Given the description of an element on the screen output the (x, y) to click on. 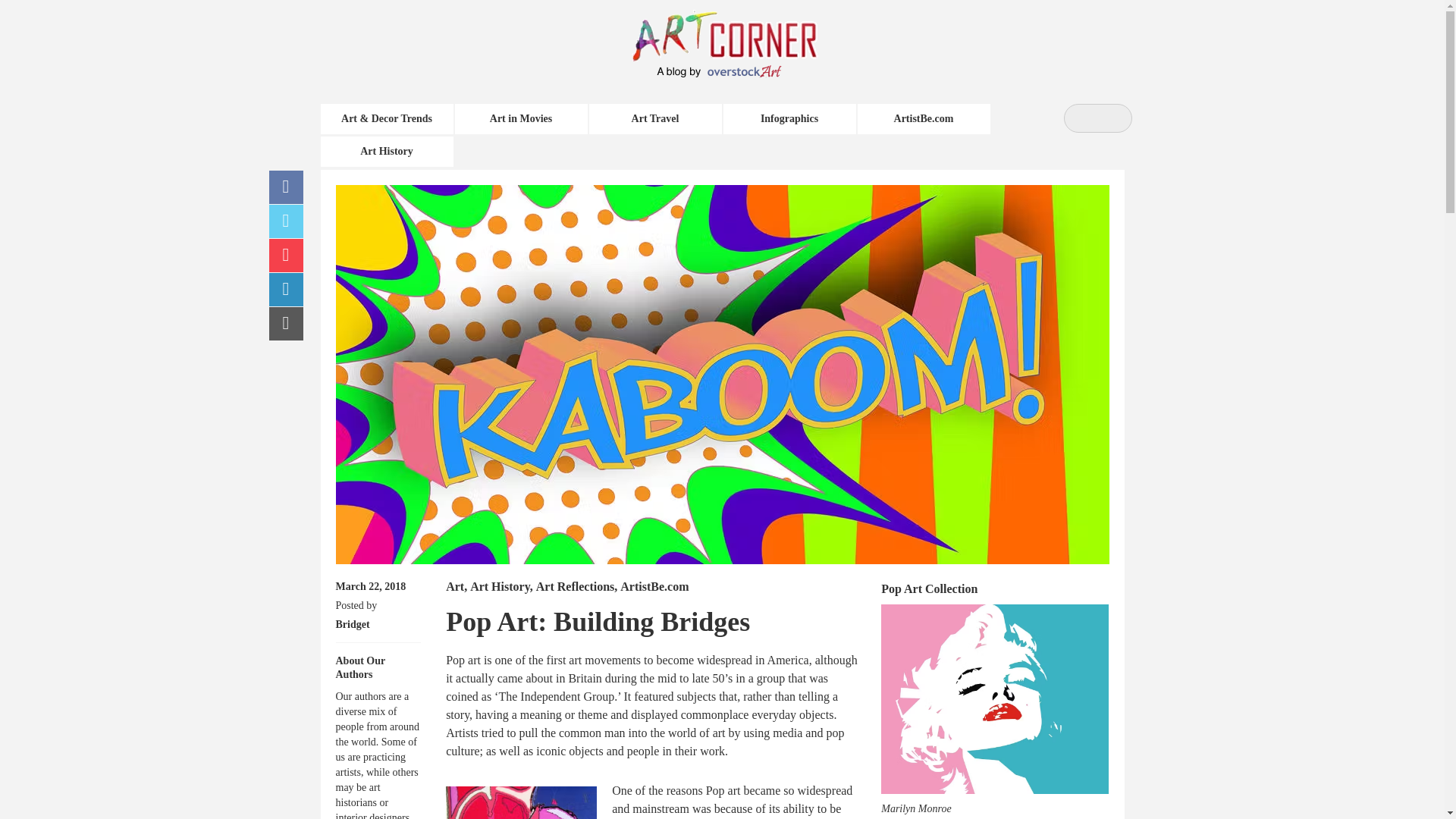
The Rose by Raquel Sarangello (520, 802)
Art Travel (654, 119)
A blog by overstockArt.com (722, 71)
Art History (499, 585)
ArtConer Blog by overstockArt.com (740, 34)
Art (454, 585)
Bridget (351, 624)
ArtistBe.com (654, 585)
Art Reflections (574, 585)
Posts by Bridget (351, 624)
